Given the description of an element on the screen output the (x, y) to click on. 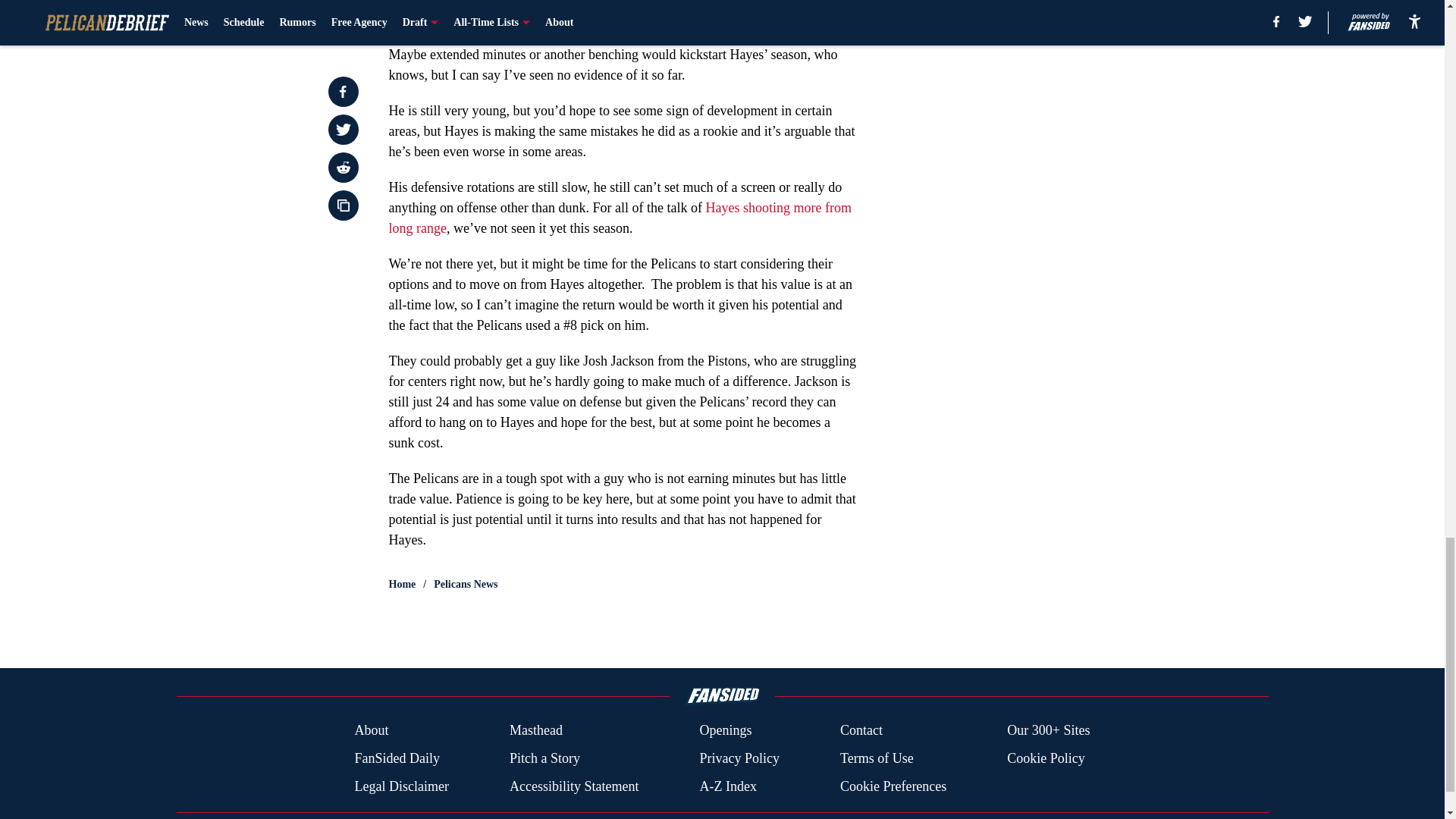
Contact (861, 730)
Masthead (535, 730)
About (370, 730)
Hayes shooting more from long range (619, 217)
Home (401, 584)
Openings (724, 730)
FanSided Daily (396, 758)
Pitch a Story (544, 758)
Pelicans News (465, 584)
Privacy Policy (738, 758)
